Given the description of an element on the screen output the (x, y) to click on. 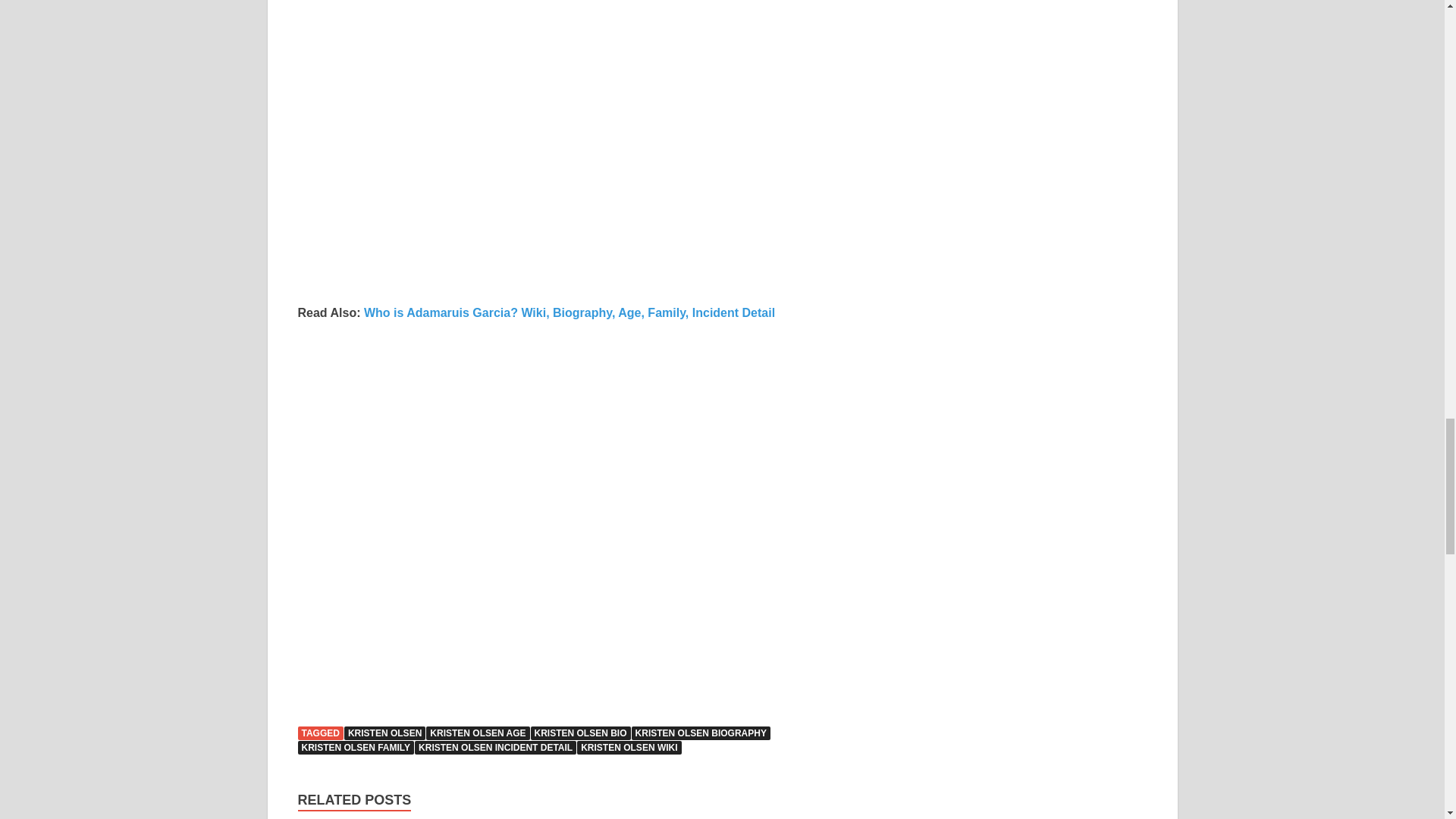
KRISTEN OLSEN WIKI (628, 747)
KRISTEN OLSEN AGE (477, 733)
KRISTEN OLSEN INCIDENT DETAIL (495, 747)
KRISTEN OLSEN FAMILY (355, 747)
KRISTEN OLSEN (384, 733)
KRISTEN OLSEN BIO (580, 733)
KRISTEN OLSEN BIOGRAPHY (700, 733)
